Given the description of an element on the screen output the (x, y) to click on. 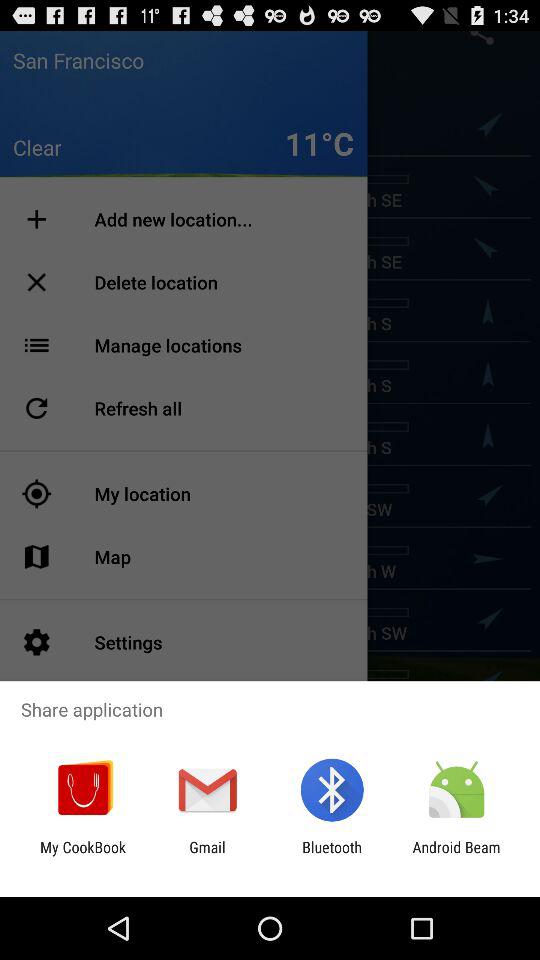
open gmail item (207, 856)
